Given the description of an element on the screen output the (x, y) to click on. 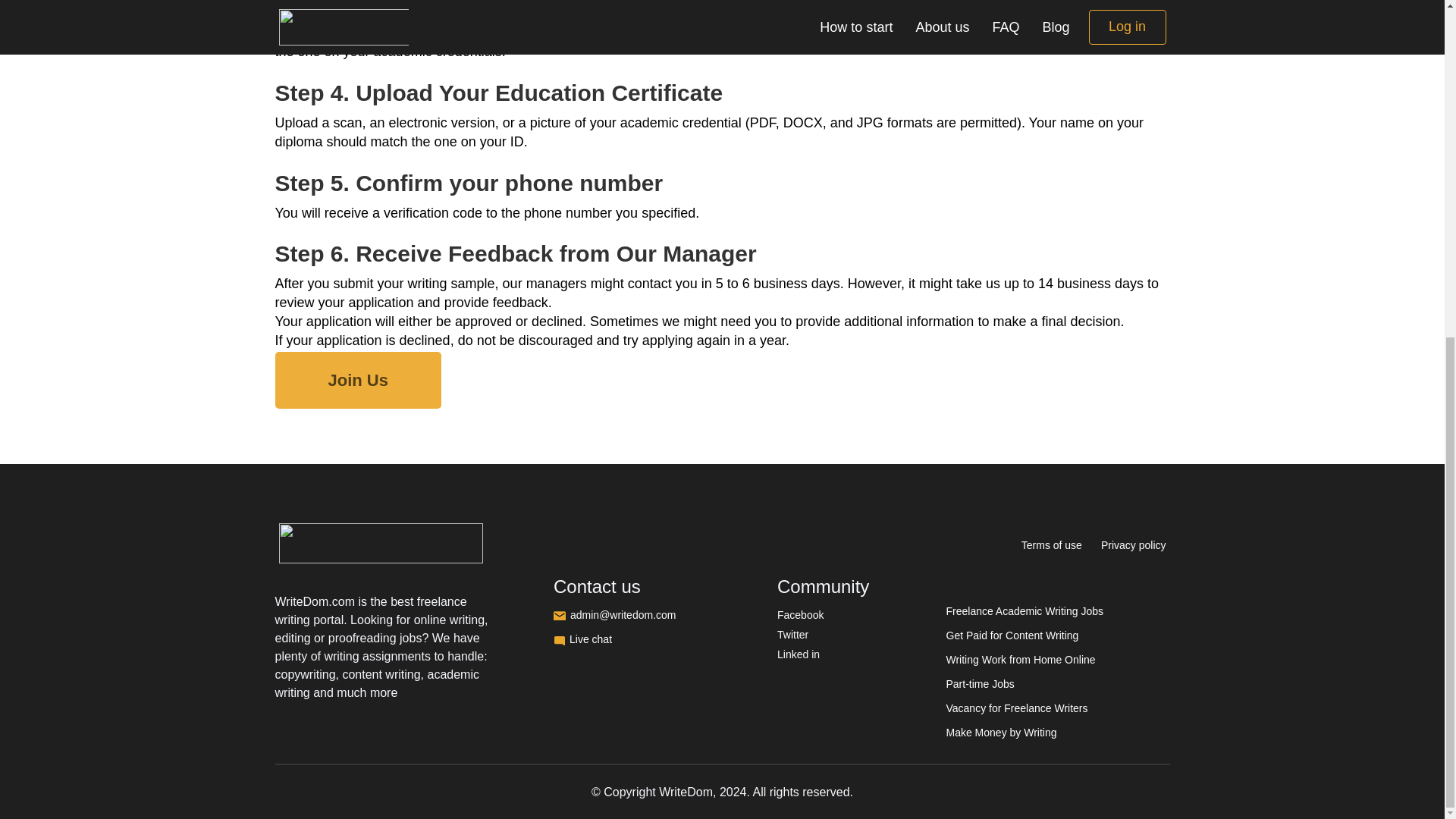
Terms of use (1051, 544)
Make Money by Writing (1001, 732)
Get Paid for Content Writing (1012, 635)
Part-time Jobs (980, 684)
Writing Work from Home Online (1021, 659)
Linked in (798, 654)
Live chat (609, 639)
Privacy policy (1133, 544)
Freelance Academic Writing Jobs (1024, 611)
Join Us (358, 380)
